Given the description of an element on the screen output the (x, y) to click on. 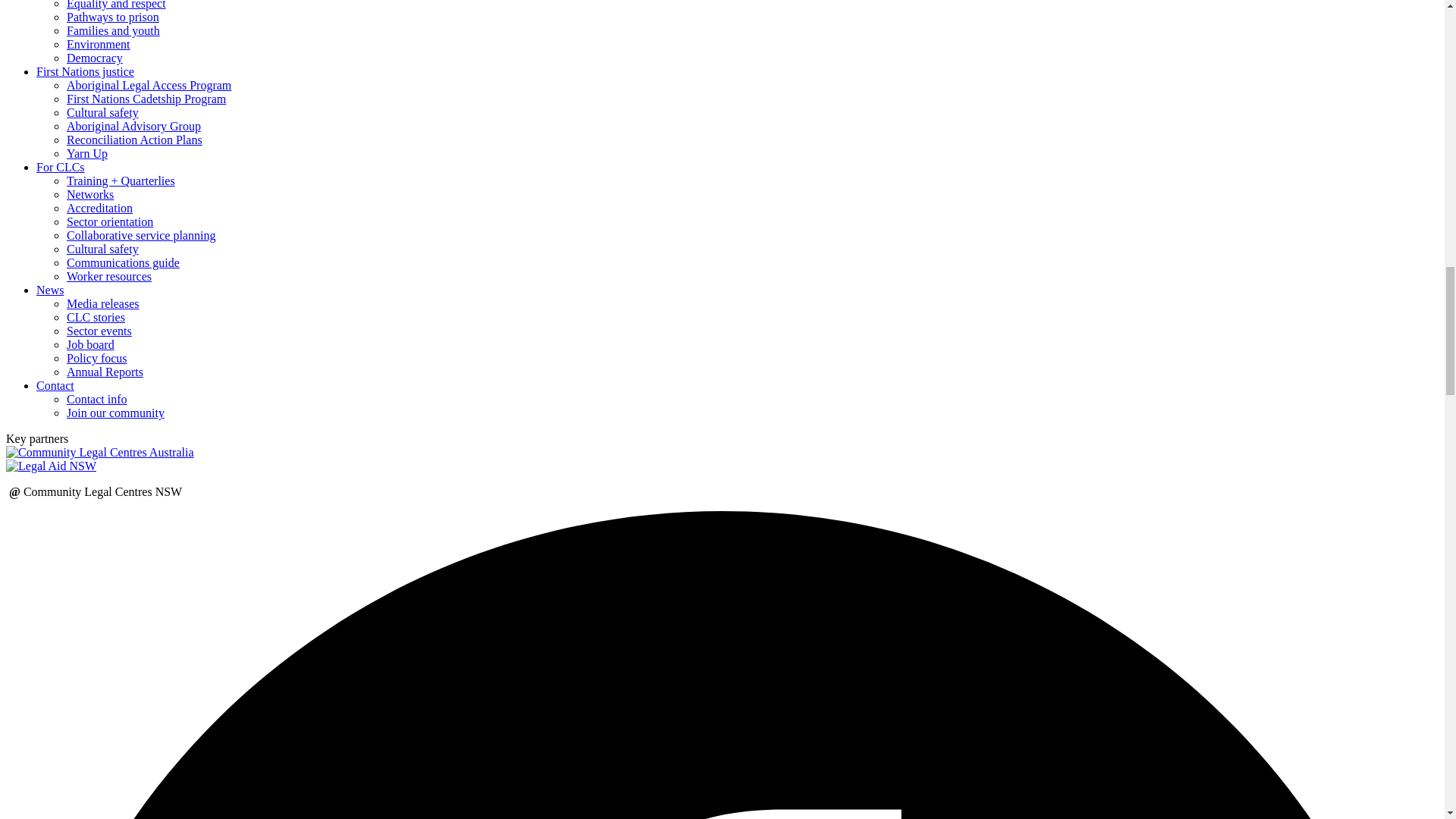
Events (99, 330)
Cultural Safety for CLCs in NSW (102, 248)
